Given the description of an element on the screen output the (x, y) to click on. 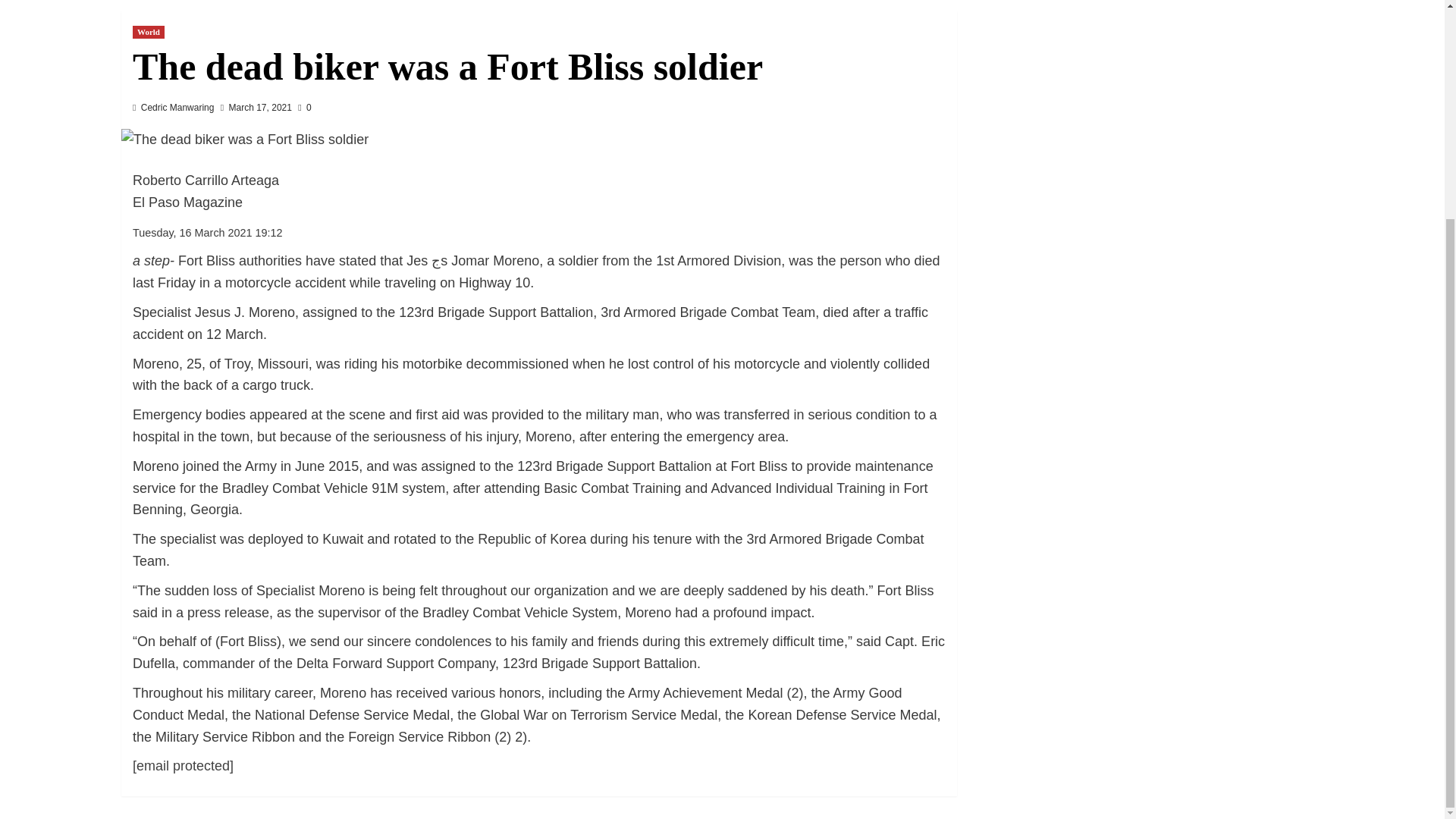
0 (304, 107)
March 17, 2021 (260, 107)
The dead biker was a Fort Bliss soldier (244, 139)
Cedric Manwaring (177, 107)
World (148, 31)
Search (1278, 6)
